Given the description of an element on the screen output the (x, y) to click on. 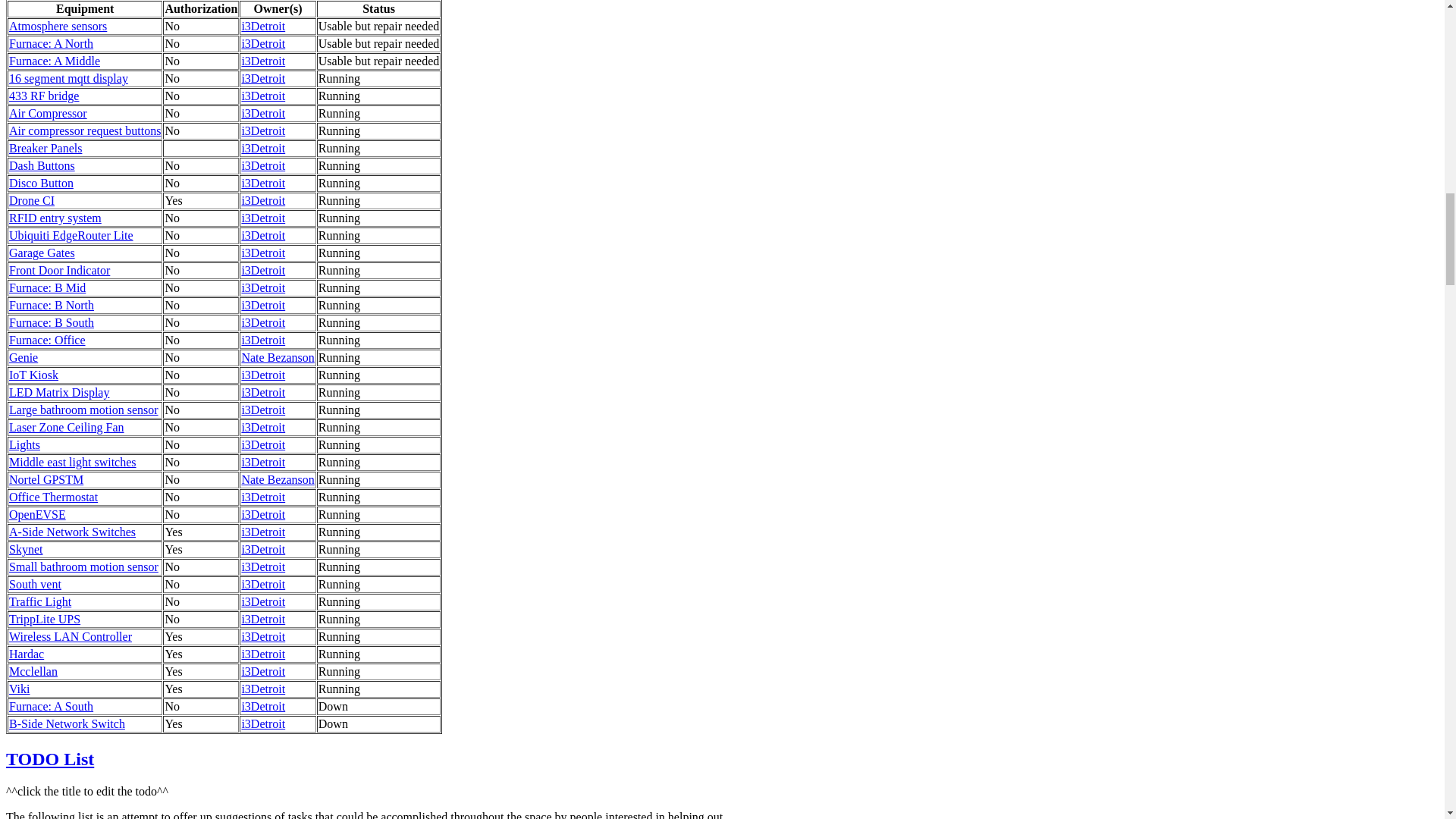
i3Detroit (263, 78)
Atmosphere sensors (57, 25)
16 segment mqtt display (68, 78)
i3Detroit (263, 42)
i3Detroit (263, 25)
Furnace: A North (50, 42)
433 RF bridge (43, 95)
Furnace: A Middle (54, 60)
Furnace: A North (50, 42)
Air Compressor (47, 113)
16 segment mqtt display (68, 78)
i3Detroit (263, 60)
Furnace: A Middle (54, 60)
Atmosphere sensors (57, 25)
